Given the description of an element on the screen output the (x, y) to click on. 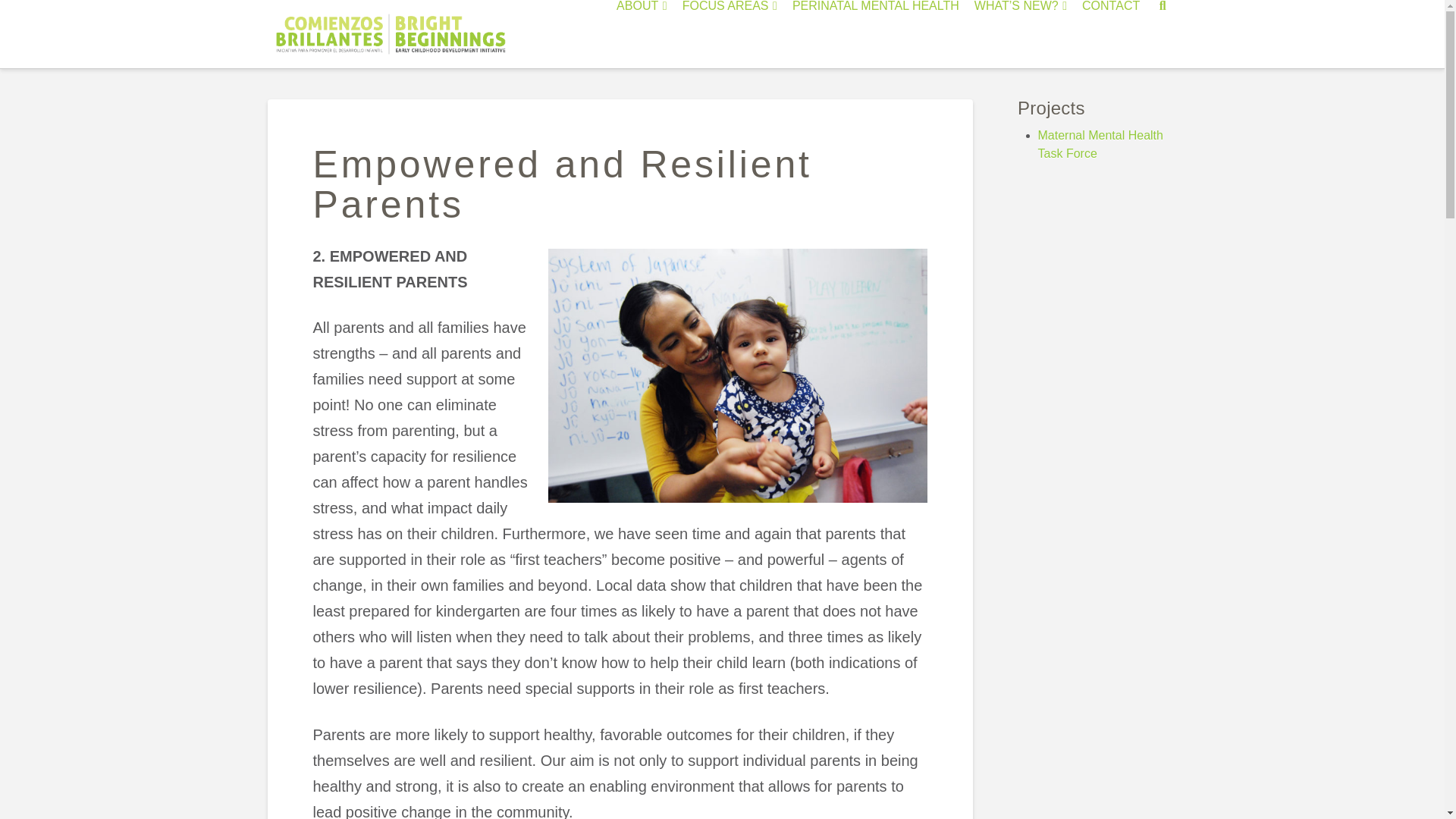
FOCUS AREAS (729, 33)
ABOUT (641, 33)
CONTACT (1110, 33)
PERINATAL MENTAL HEALTH (875, 33)
